Given the description of an element on the screen output the (x, y) to click on. 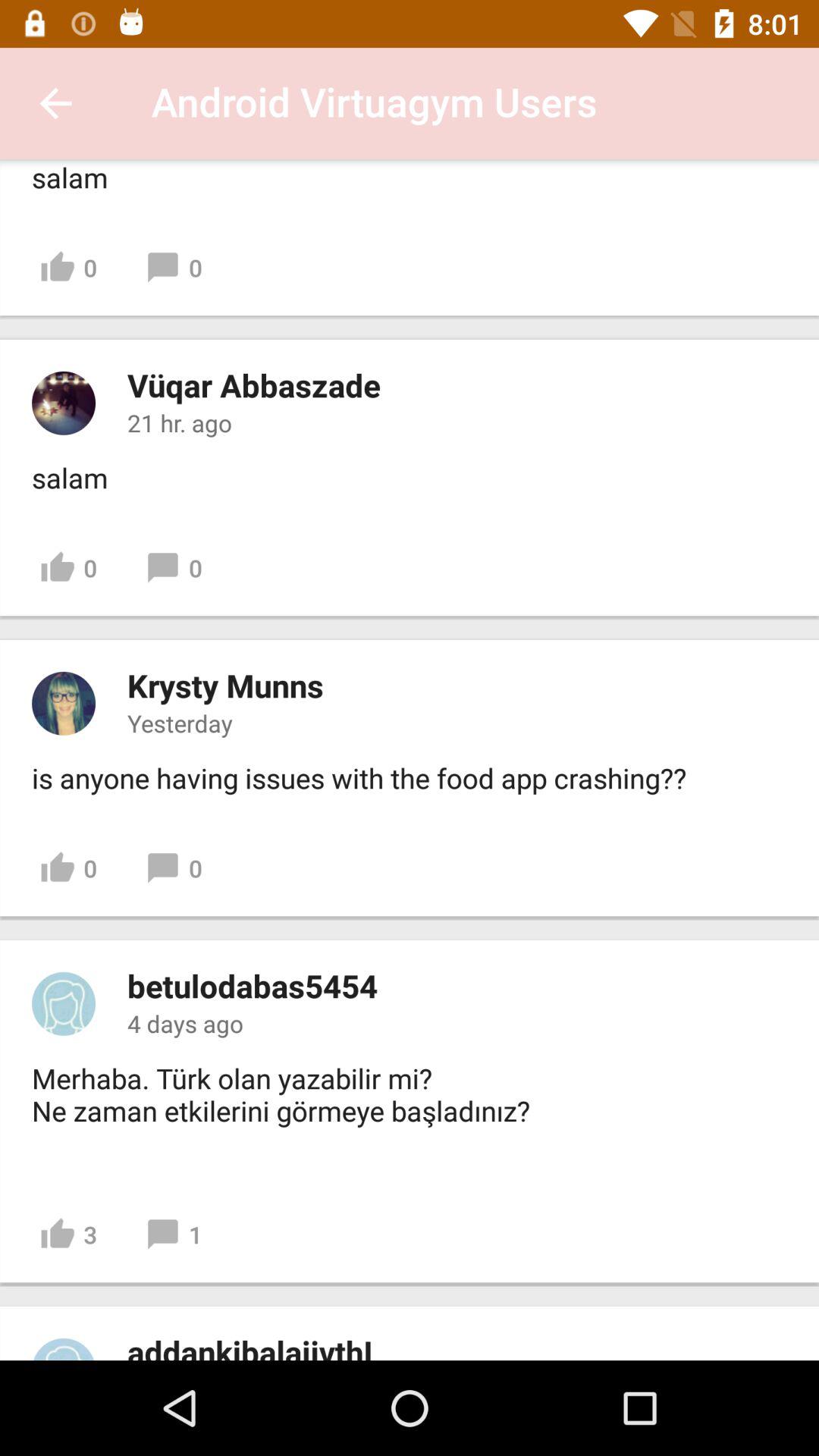
press icon below yesterday item (358, 777)
